Given the description of an element on the screen output the (x, y) to click on. 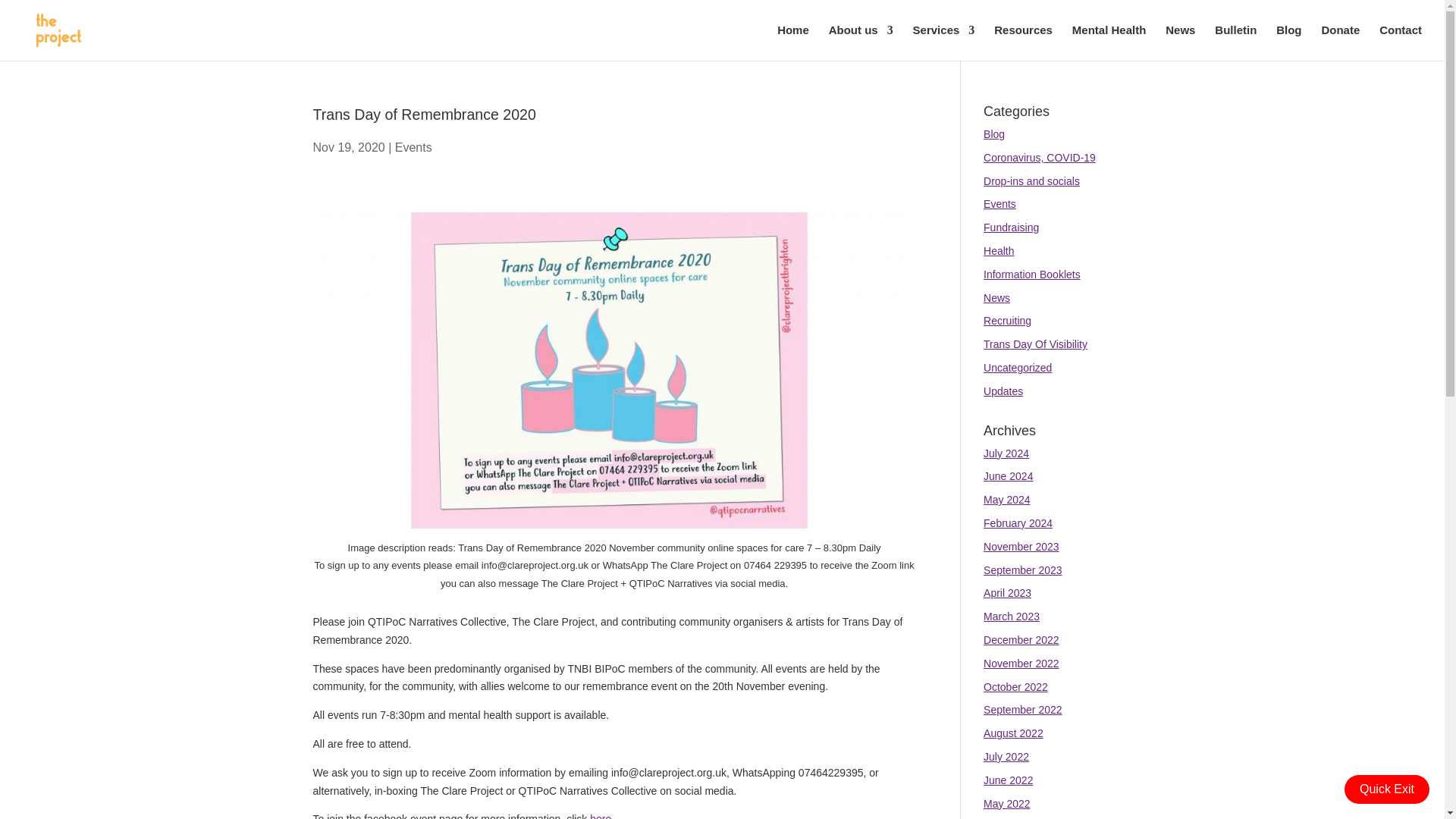
Bulletin (1235, 42)
Home (793, 42)
Resources (1023, 42)
Contact (1400, 42)
Services (943, 42)
Donate (1339, 42)
Mental Health (1109, 42)
About us (860, 42)
